Given the description of an element on the screen output the (x, y) to click on. 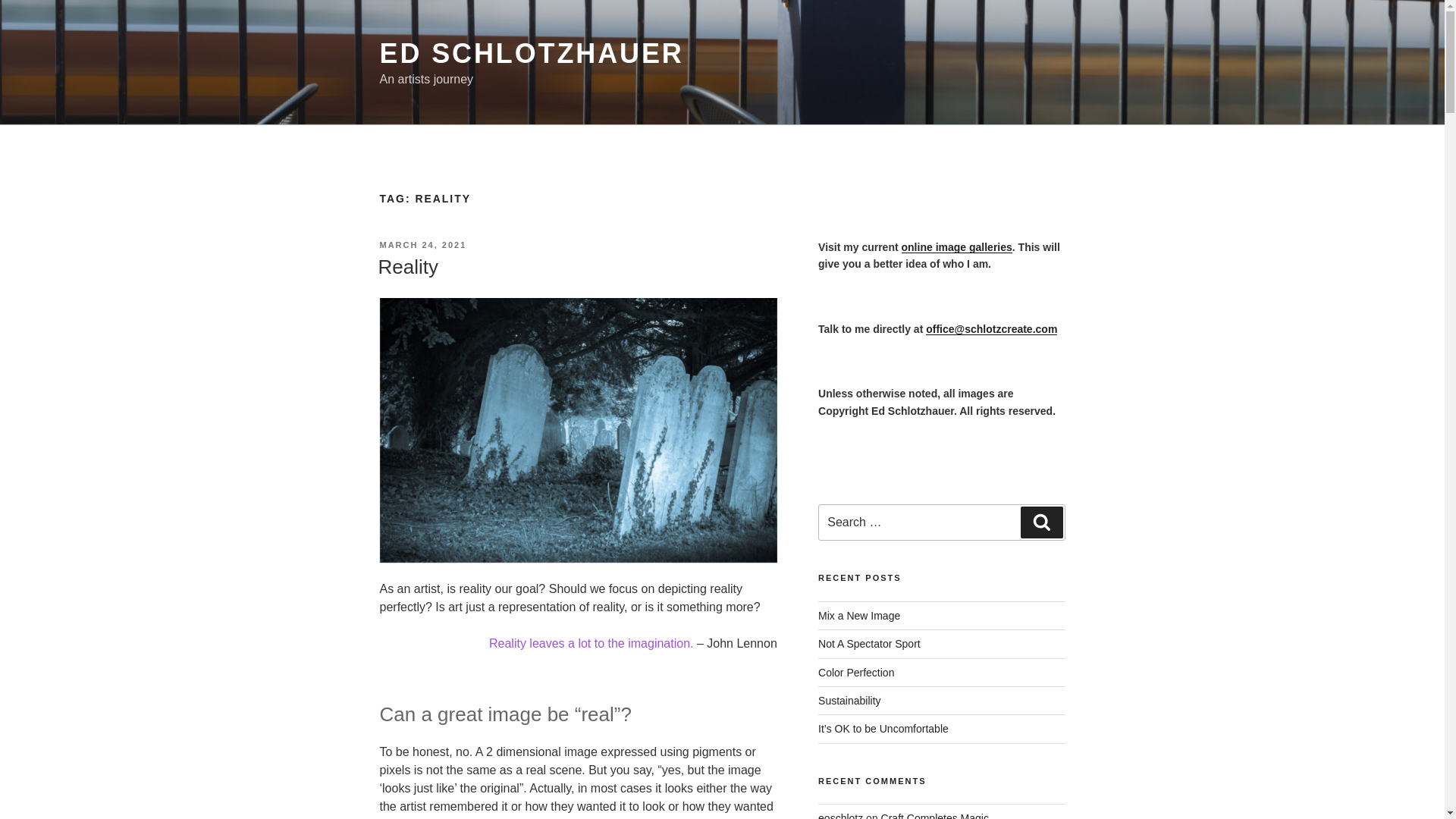
ED SCHLOTZHAUER (530, 52)
Craft Completes Magic (934, 815)
Reality (407, 266)
Not A Spectator Sport (869, 644)
MARCH 24, 2021 (421, 244)
eoschlotz (840, 815)
Search (1041, 522)
Sustainability (849, 700)
online image galleries (956, 246)
Mix a New Image (858, 615)
Color Perfection (855, 672)
